Given the description of an element on the screen output the (x, y) to click on. 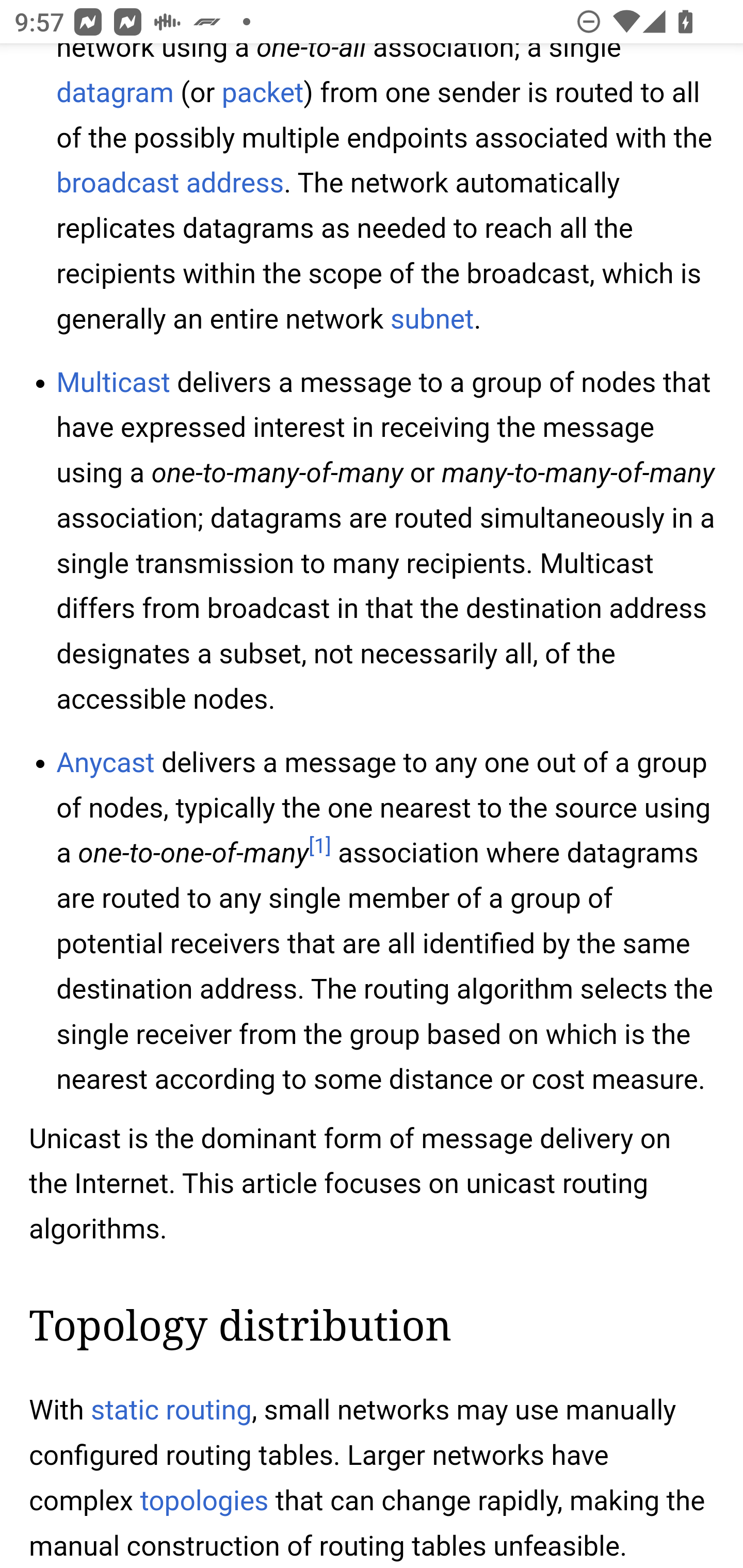
datagram (114, 92)
packet (262, 92)
broadcast address (170, 183)
subnet (432, 319)
Multicast (113, 383)
Anycast (105, 761)
[] [ 1 ] (319, 846)
static routing (171, 1410)
topologies (203, 1500)
